Given the description of an element on the screen output the (x, y) to click on. 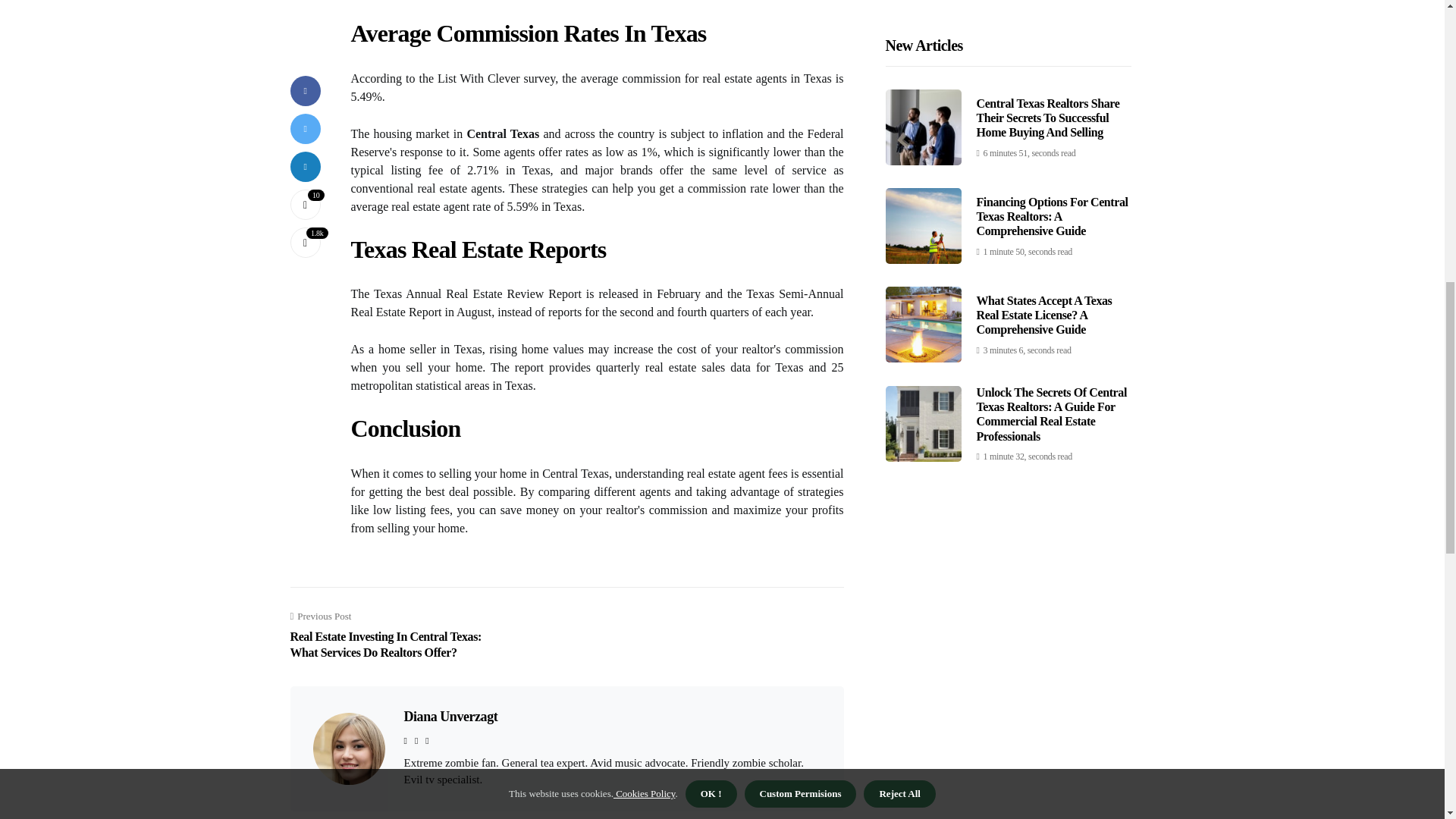
Diana Unverzagt (450, 716)
